Given the description of an element on the screen output the (x, y) to click on. 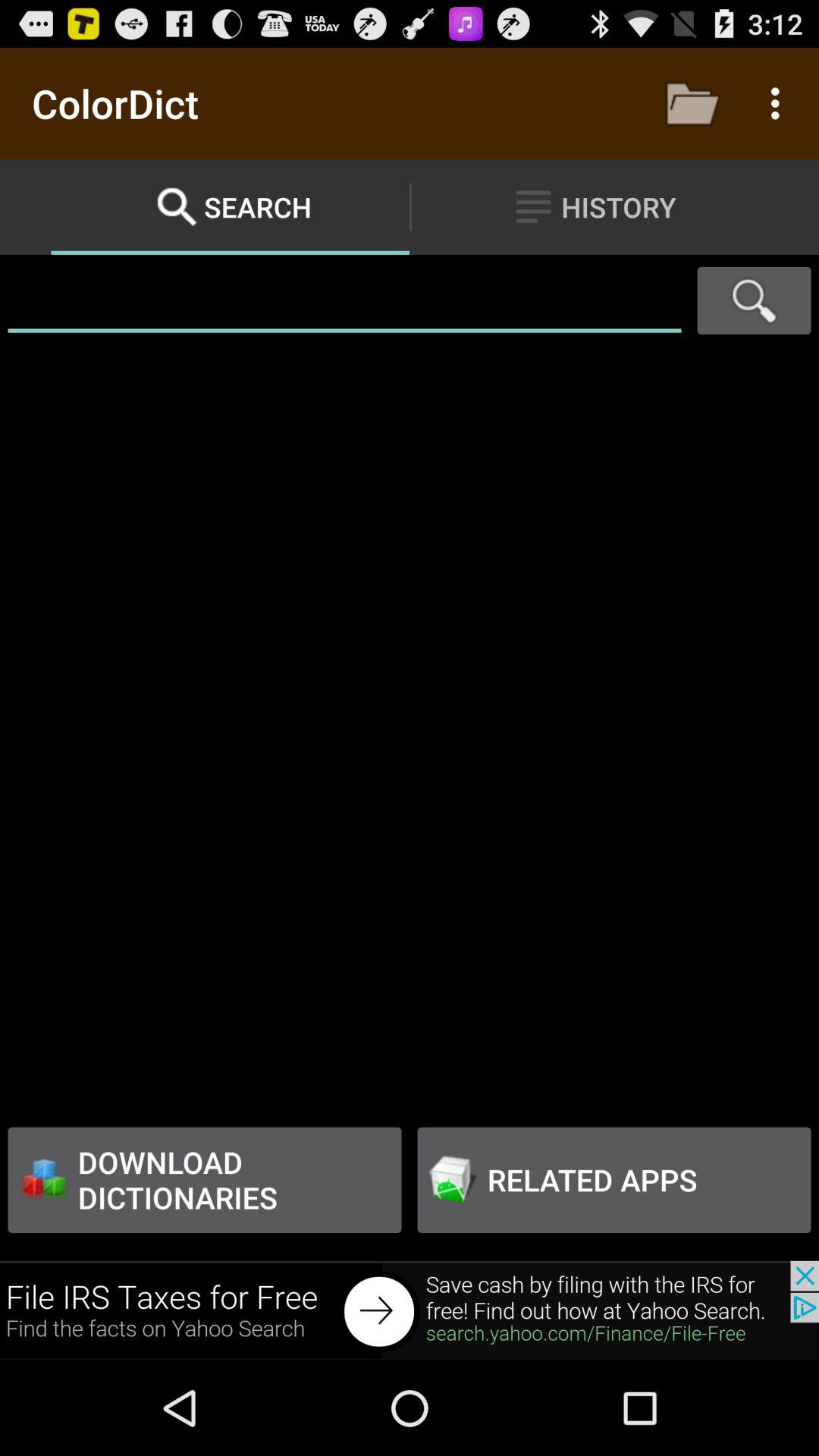
search pages (754, 300)
